Given the description of an element on the screen output the (x, y) to click on. 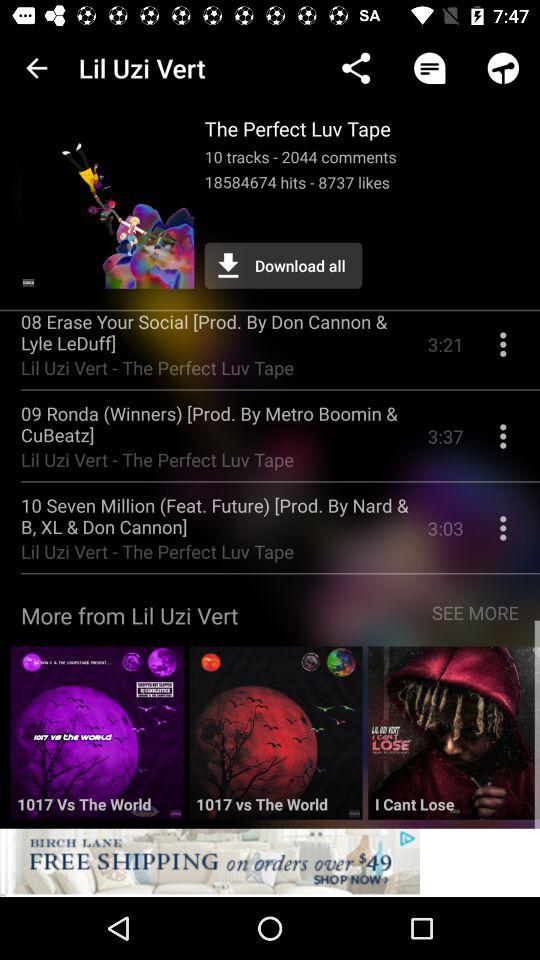
to choose highlighted music (275, 740)
